Given the description of an element on the screen output the (x, y) to click on. 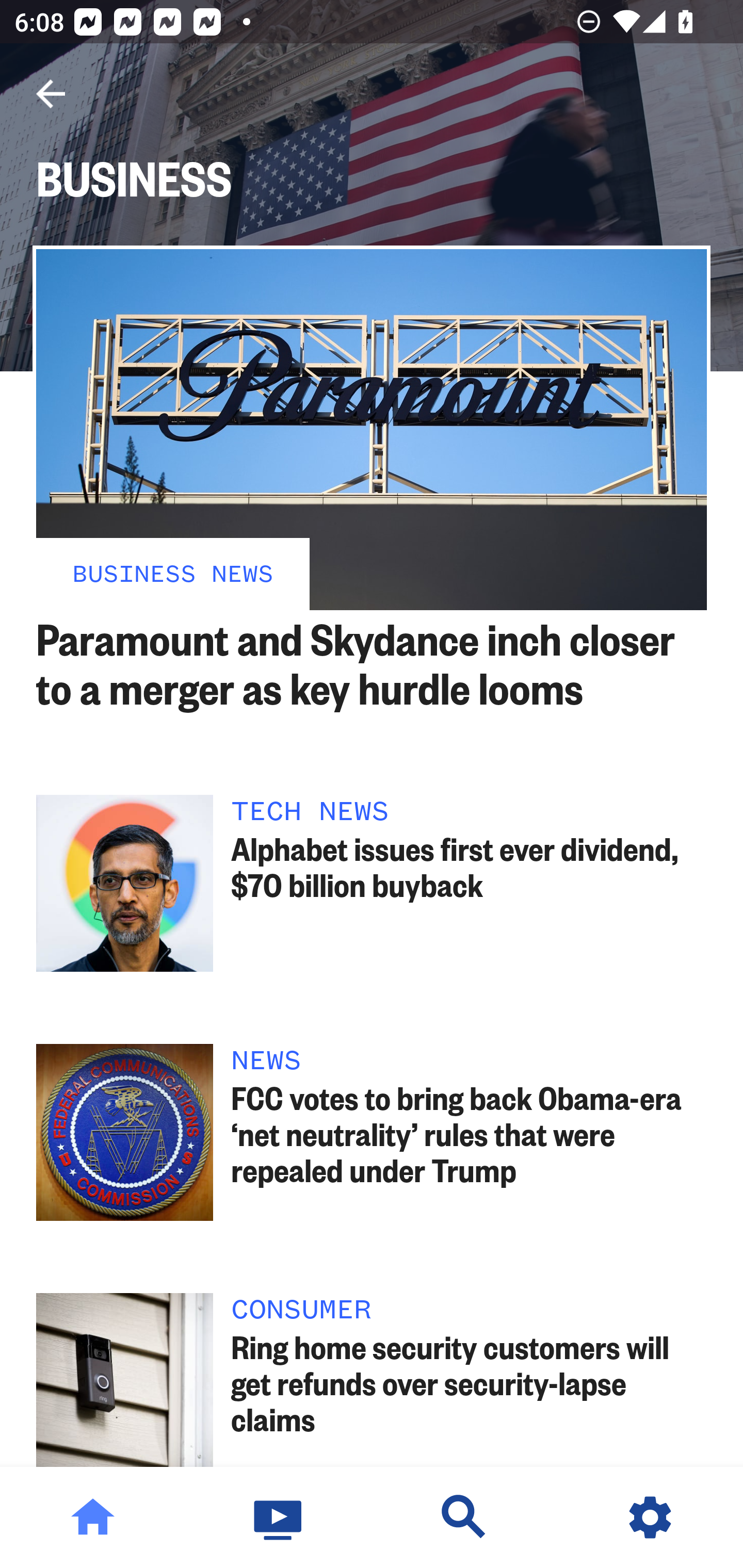
Navigate up (50, 93)
Watch (278, 1517)
Discover (464, 1517)
Settings (650, 1517)
